Given the description of an element on the screen output the (x, y) to click on. 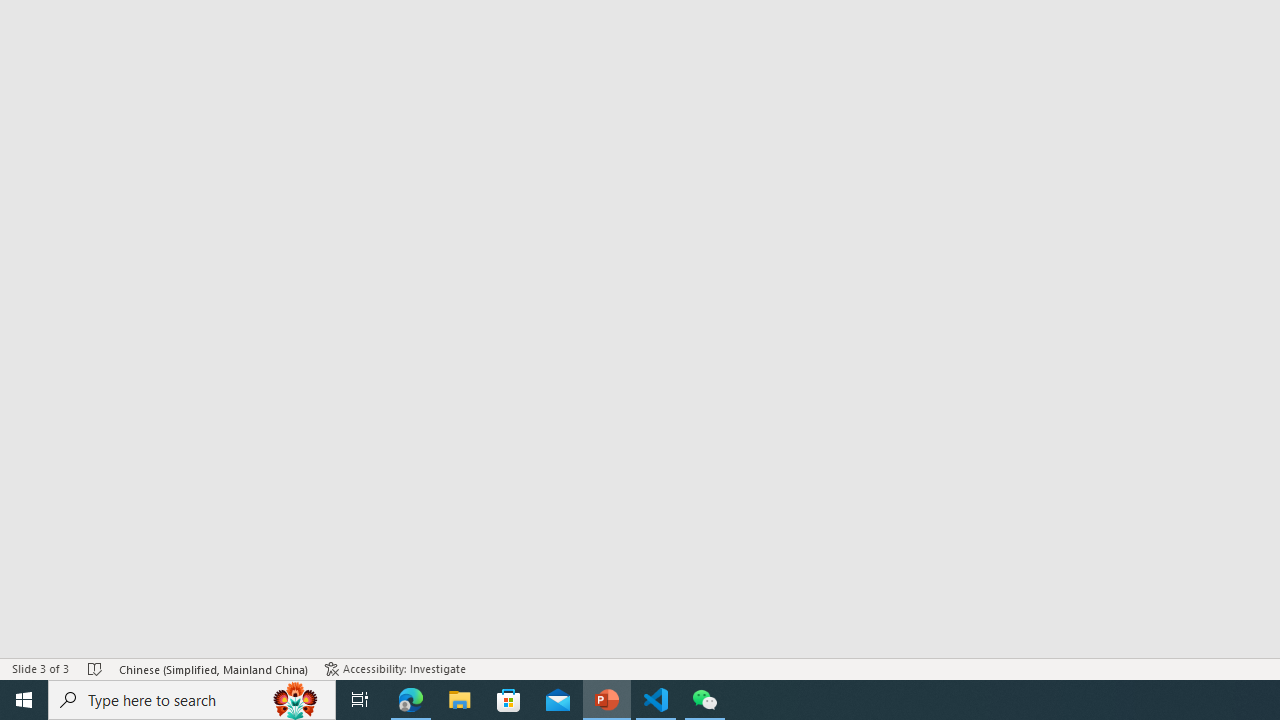
WeChat - 1 running window (704, 699)
